Given the description of an element on the screen output the (x, y) to click on. 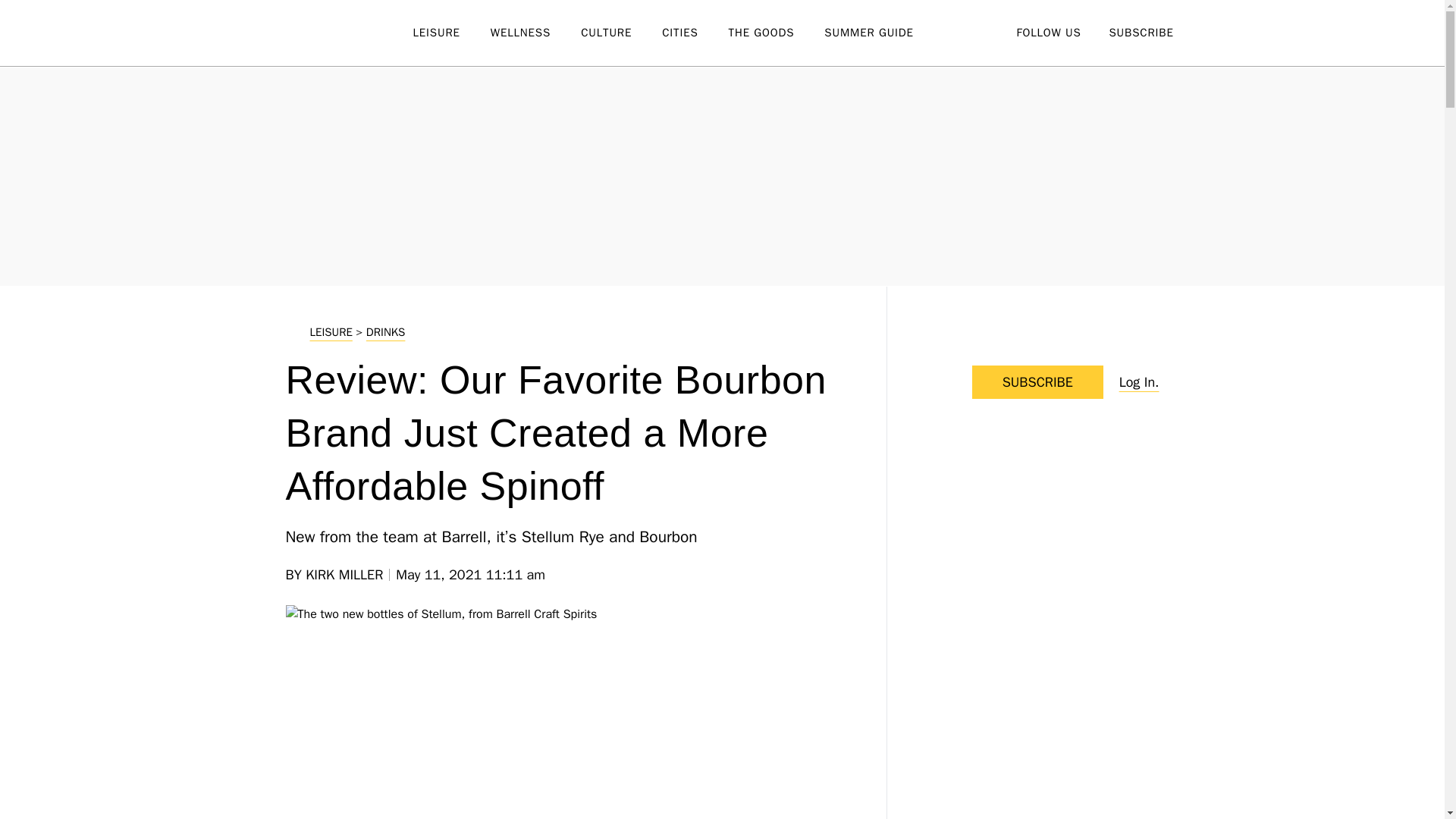
THE GOODS (777, 32)
LEISURE (450, 32)
FOLLOW US (1048, 32)
CITIES (695, 32)
WELLNESS (535, 32)
SUMMER GUIDE (883, 32)
SUBSCRIBE (1140, 32)
CULTURE (621, 32)
